Given the description of an element on the screen output the (x, y) to click on. 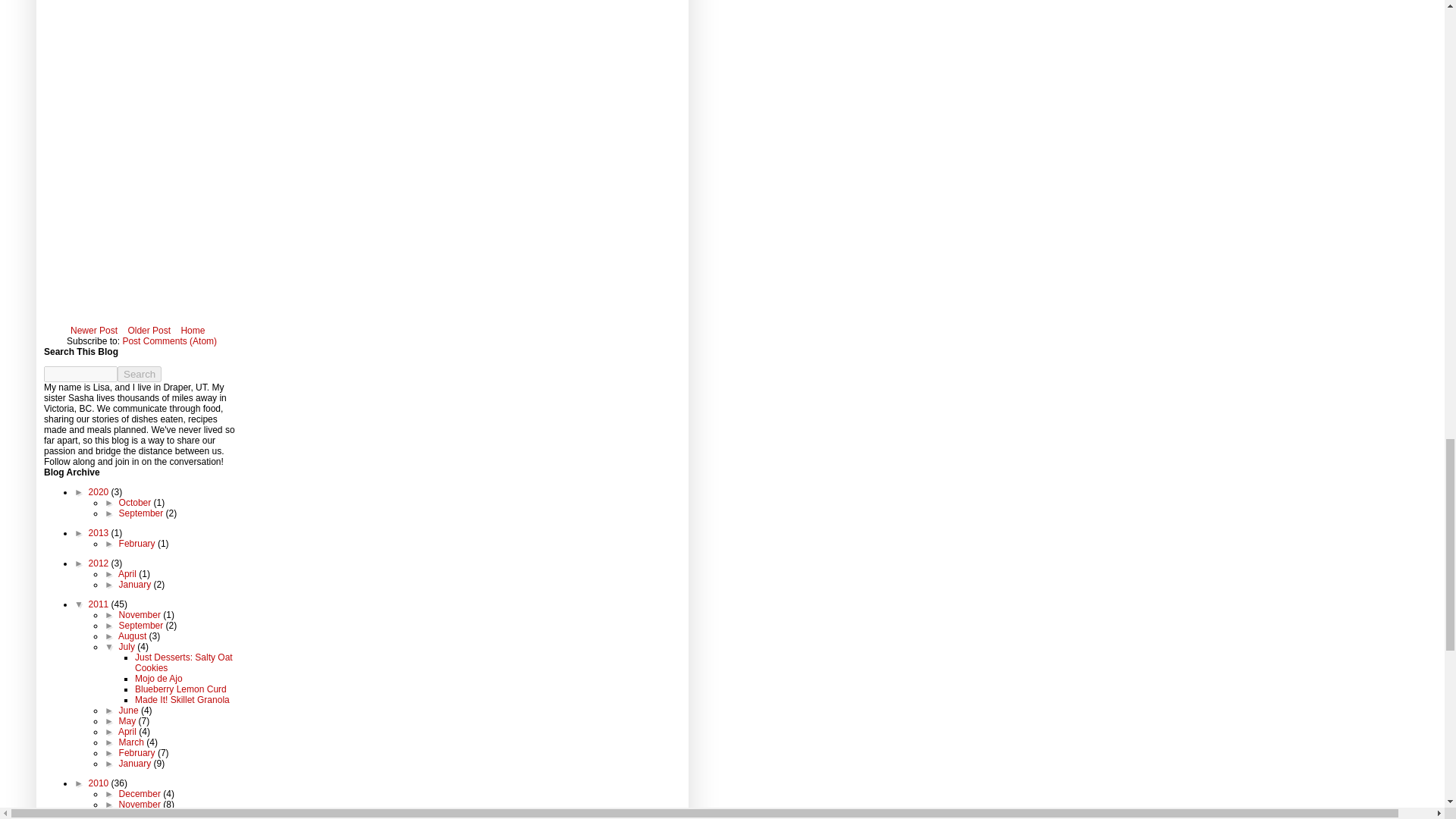
Search (139, 374)
Older Post (148, 330)
Search (139, 374)
search (139, 374)
search (80, 374)
Newer Post (93, 330)
